Given the description of an element on the screen output the (x, y) to click on. 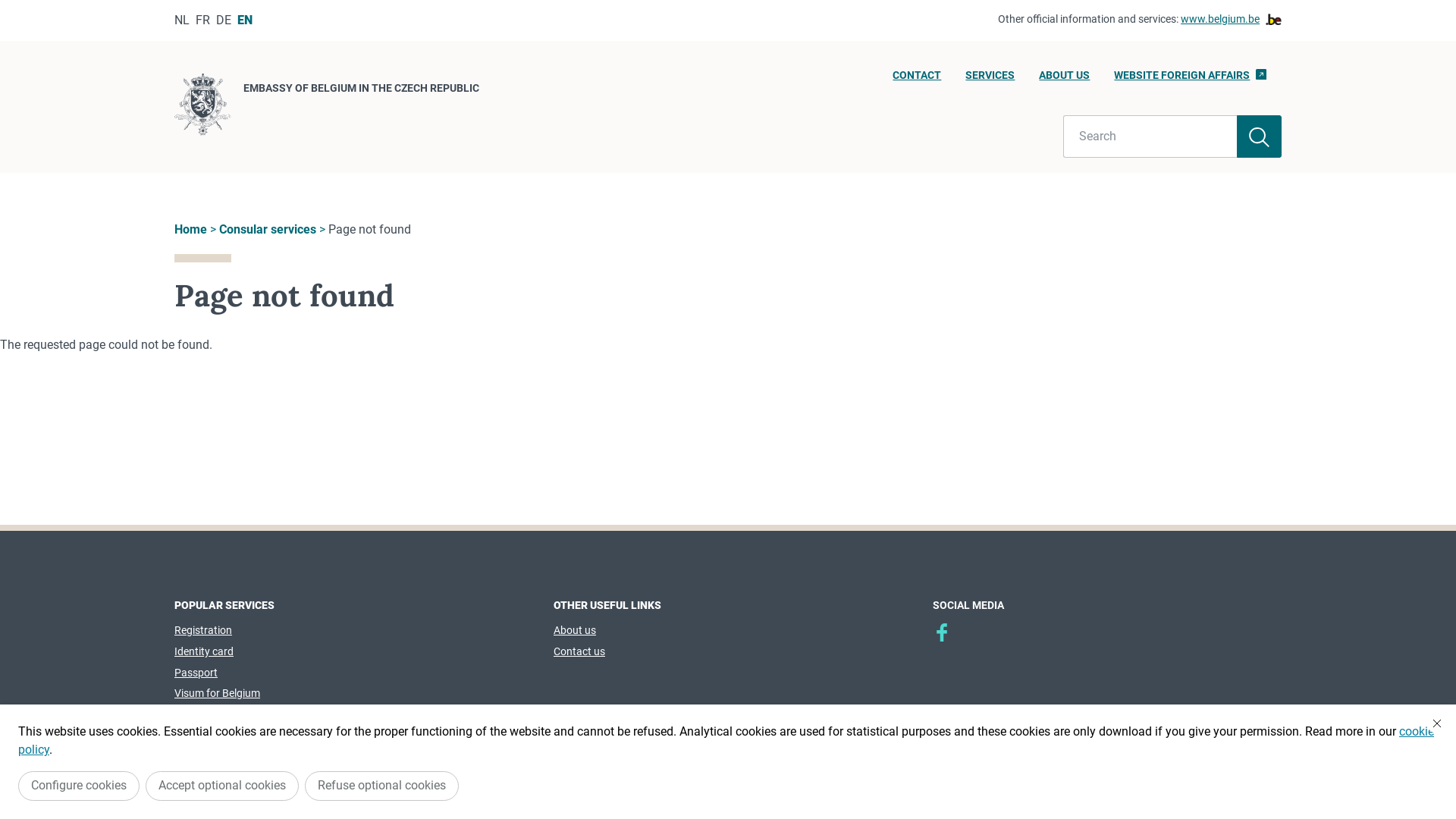
Cookie Policy Element type: text (767, 772)
www.belgium.be Element type: text (1230, 19)
Legal notice Element type: text (683, 772)
Visum for Belgium Element type: text (217, 693)
FR Element type: text (202, 19)
About us Element type: text (574, 630)
Protection of personal data Element type: text (566, 772)
Accessibility statement Element type: text (887, 772)
DE Element type: text (223, 19)
Home Element type: text (190, 229)
Embassy of Belgium in Prague, Czech Republic Element type: text (941, 632)
Contact us Element type: text (579, 651)
WEBSITE FOREIGN AFFAIRS Element type: text (1189, 79)
ABOUT US Element type: text (1063, 79)
Search Element type: hover (1149, 136)
CONTACT Element type: text (916, 79)
NL Element type: text (181, 19)
EMBASSY OF BELGIUM IN THE CZECH REPUBLIC Element type: text (326, 106)
Passport Element type: text (195, 672)
Registration Element type: text (203, 630)
Accept optional cookies Element type: text (221, 785)
Skip to main content Element type: text (7, 4)
Consular services Element type: text (267, 229)
Configure cookies Element type: text (78, 785)
SERVICES Element type: text (989, 79)
Identity card Element type: text (203, 651)
cookie policy Element type: text (726, 740)
Close Element type: hover (1436, 723)
EN Element type: text (244, 19)
Apply filter Element type: text (1258, 136)
Refuse optional cookies Element type: text (381, 785)
